Given the description of an element on the screen output the (x, y) to click on. 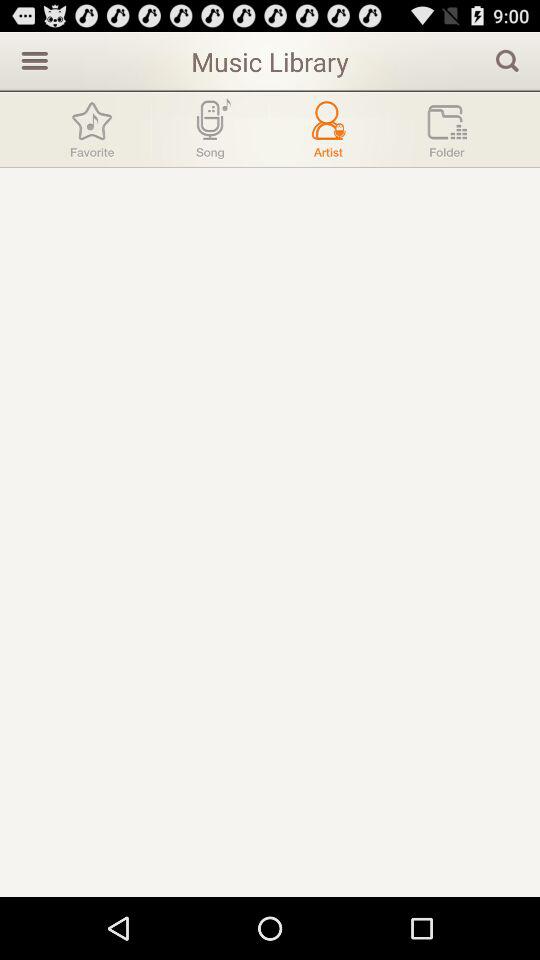
open song menu (210, 129)
